Given the description of an element on the screen output the (x, y) to click on. 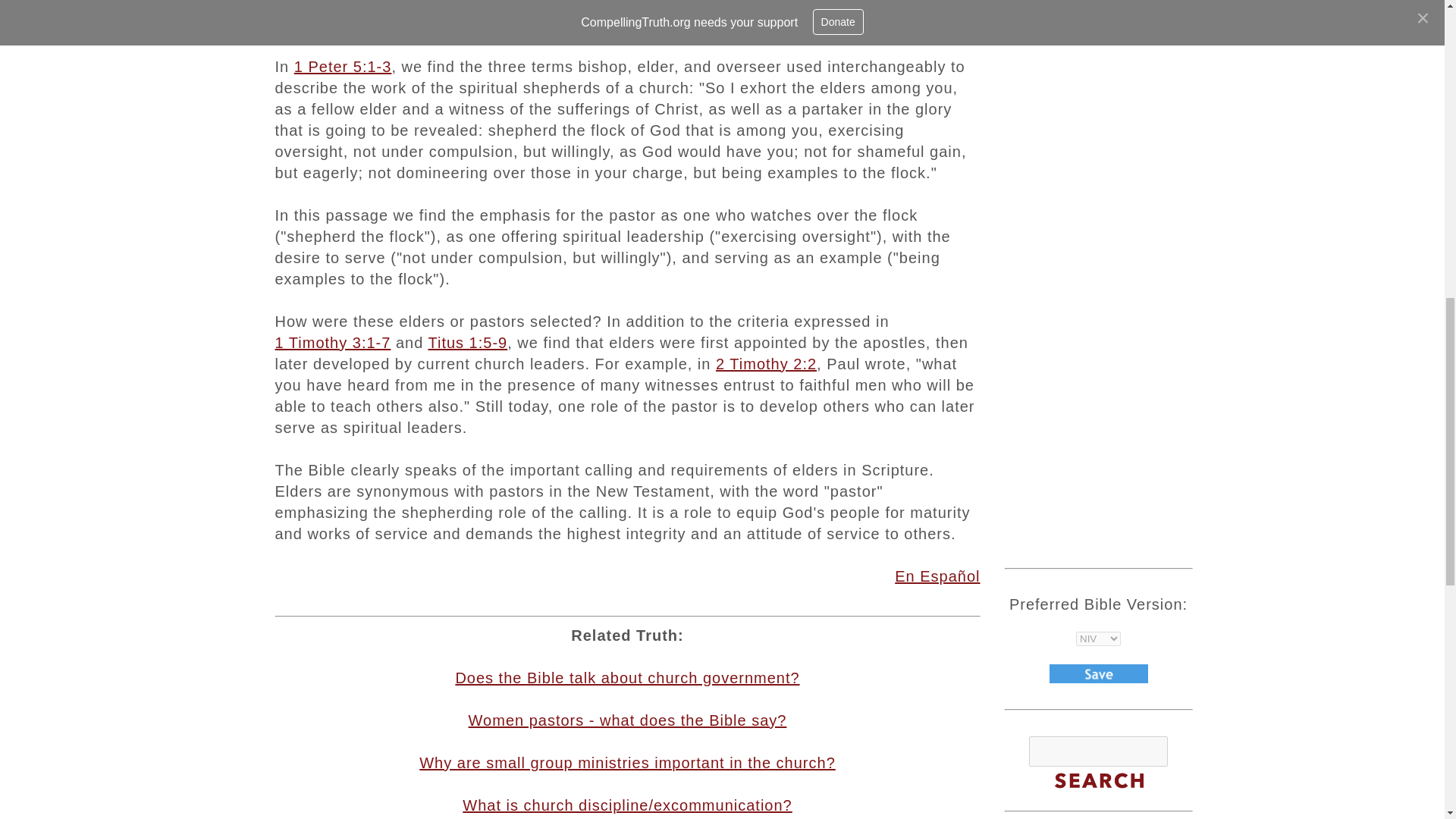
Save (1098, 673)
Why are small group ministries important in the church? (627, 762)
2 Timothy 2:2 (766, 363)
Titus 1:5-9 (467, 342)
1 Timothy 3:1-7 (332, 342)
Women pastors - what does the Bible say? (627, 719)
1 Peter 5:1-3 (342, 66)
Does the Bible talk about church government? (626, 677)
